Given the description of an element on the screen output the (x, y) to click on. 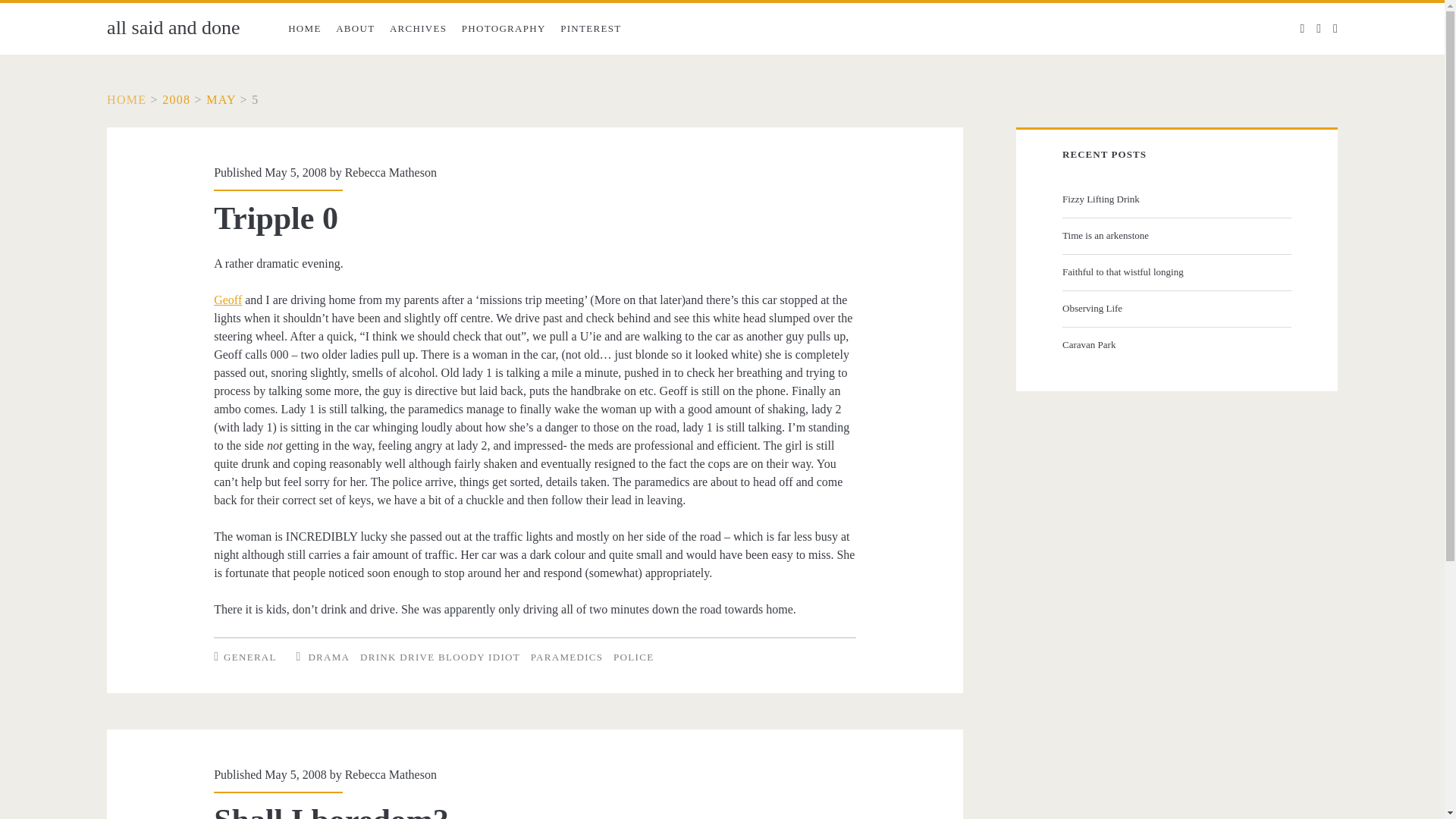
2008 (175, 99)
DRINK DRIVE BLOODY IDIOT (439, 656)
Faithful to that wistful longing (1174, 271)
all said and done (173, 27)
PHOTOGRAPHY (503, 28)
DRAMA (328, 656)
Geoff (227, 299)
POLICE (632, 656)
all said and done (126, 99)
Rebecca Matheson (390, 774)
Time is an arkenstone (1174, 235)
HOME (126, 99)
ABOUT (355, 28)
HOME (305, 28)
View all posts tagged police (632, 656)
